Given the description of an element on the screen output the (x, y) to click on. 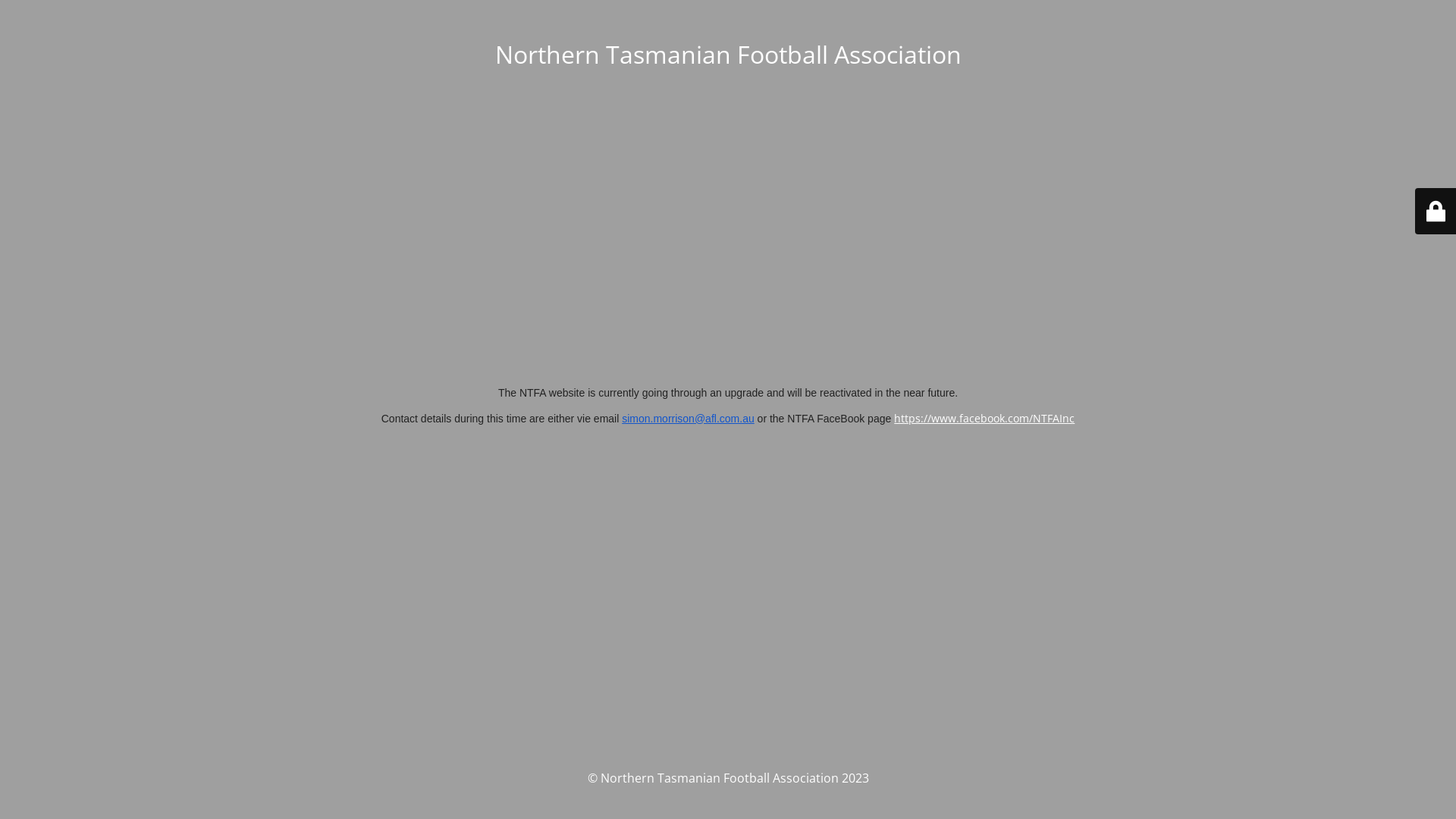
https://www.facebook.com/NTFAInc Element type: text (984, 418)
simon.morrison@afl.com.au Element type: text (687, 418)
